Given the description of an element on the screen output the (x, y) to click on. 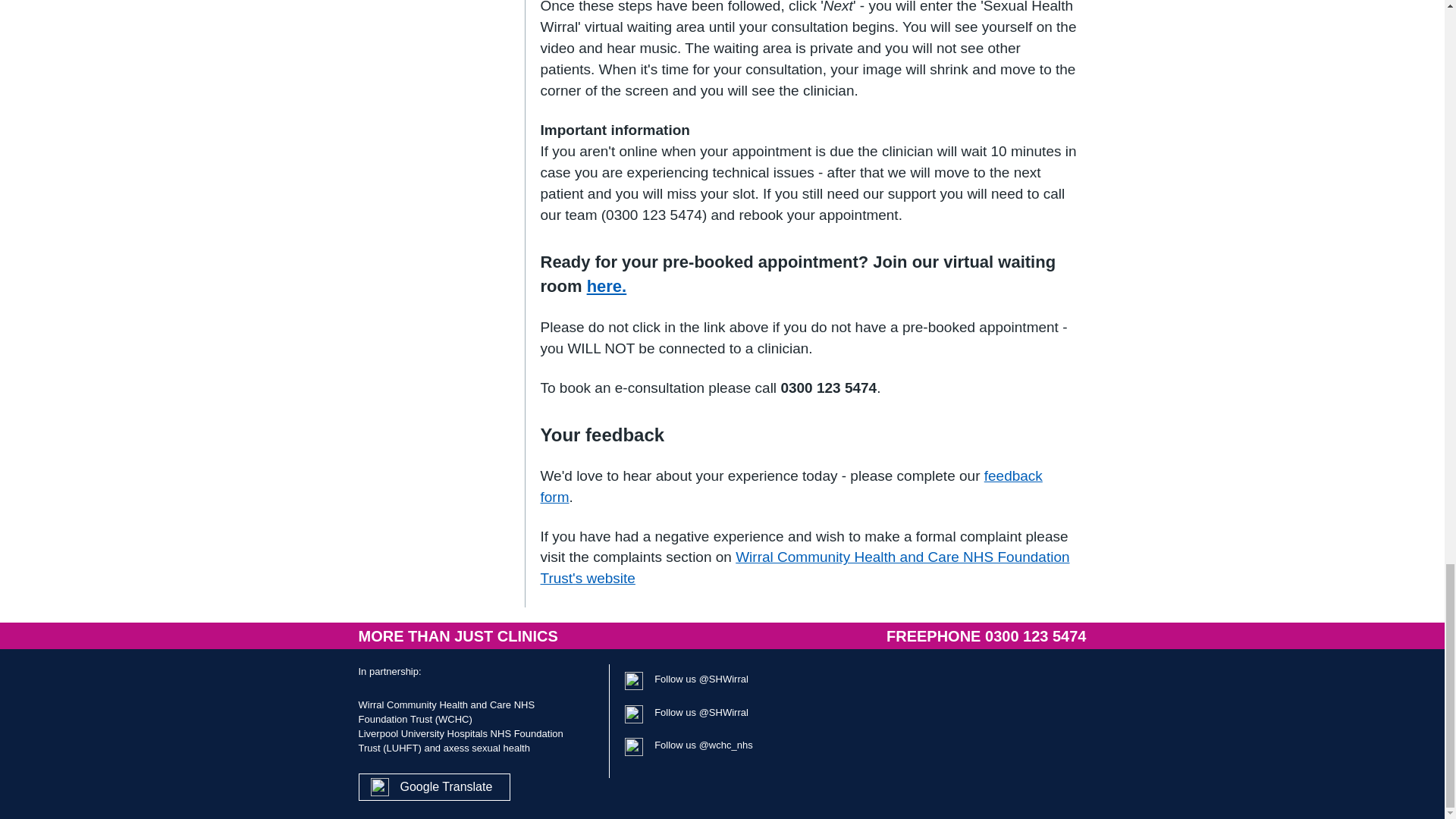
Google Translate (446, 786)
here. (606, 285)
feedback form (791, 486)
feedback form (791, 486)
axess sexual health (486, 747)
here. (606, 285)
